Given the description of an element on the screen output the (x, y) to click on. 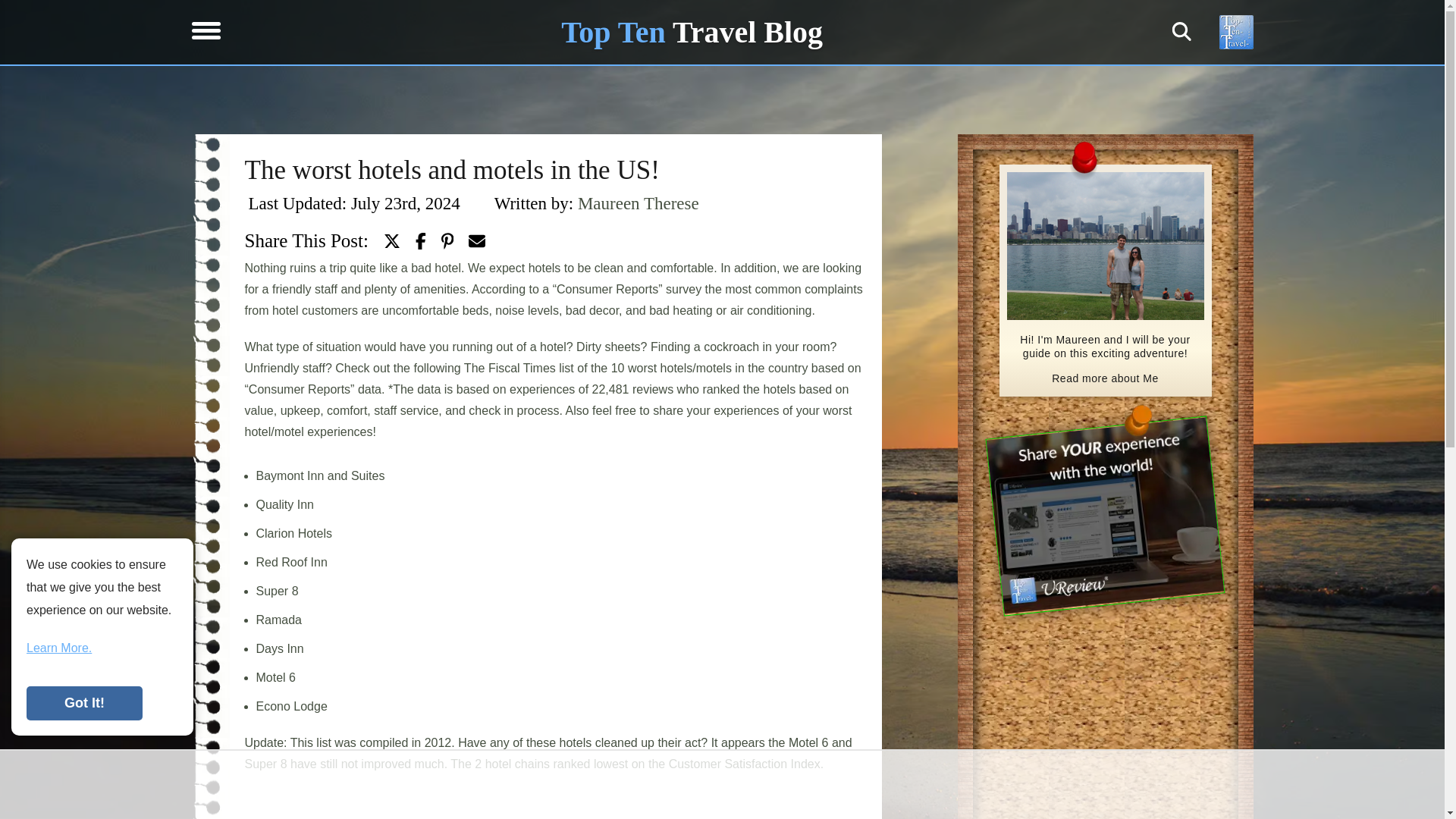
Top Ten Travel Blog (691, 32)
search Top Ten Travel Blog (1181, 32)
Top Ten Travel List Home (691, 32)
